Given the description of an element on the screen output the (x, y) to click on. 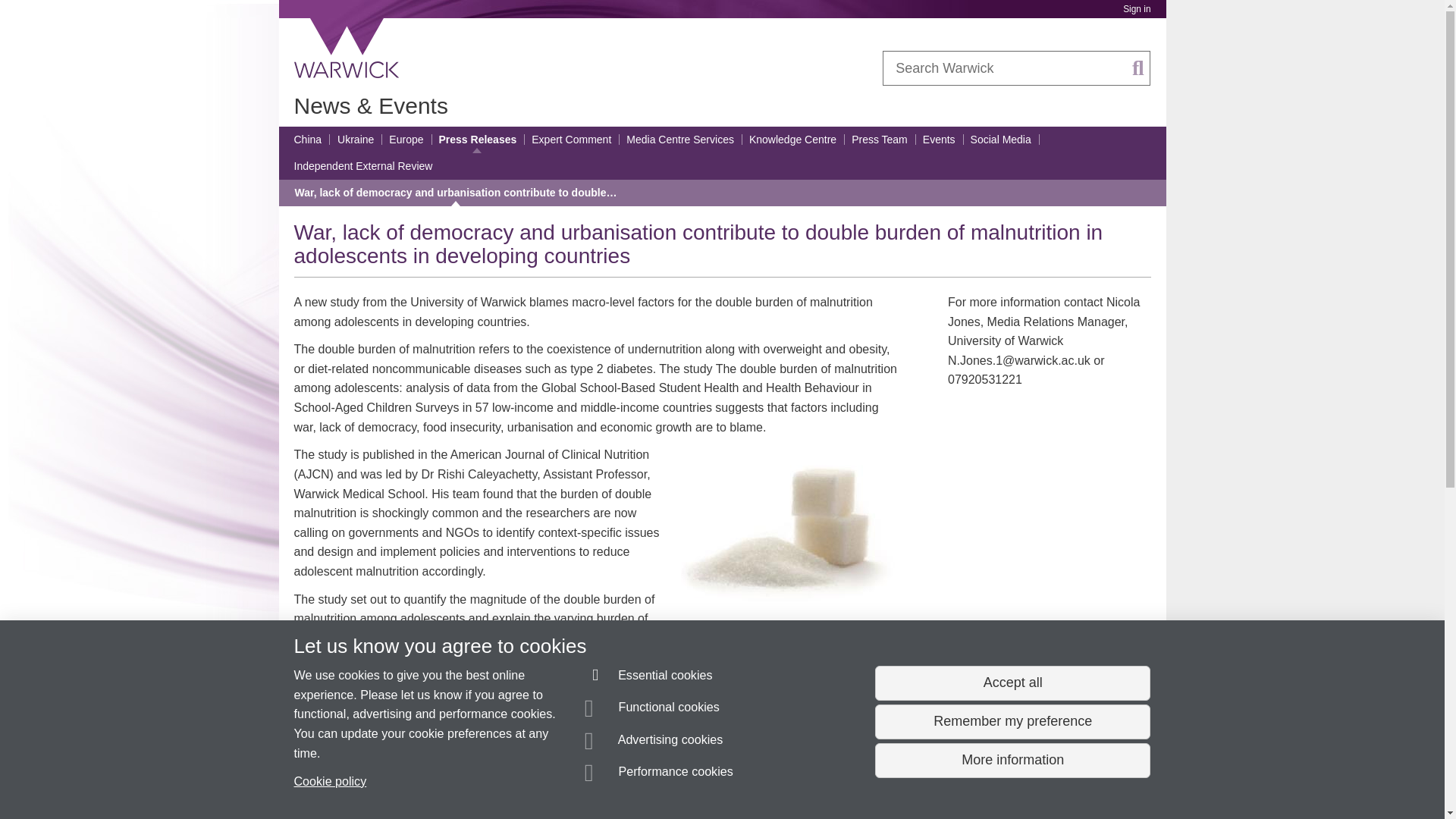
Media Centre Services (679, 139)
Europe (405, 139)
University of Warwick homepage (346, 48)
Ukraine (355, 139)
Events (939, 139)
Social Media (1000, 139)
Press Team (879, 139)
